Given the description of an element on the screen output the (x, y) to click on. 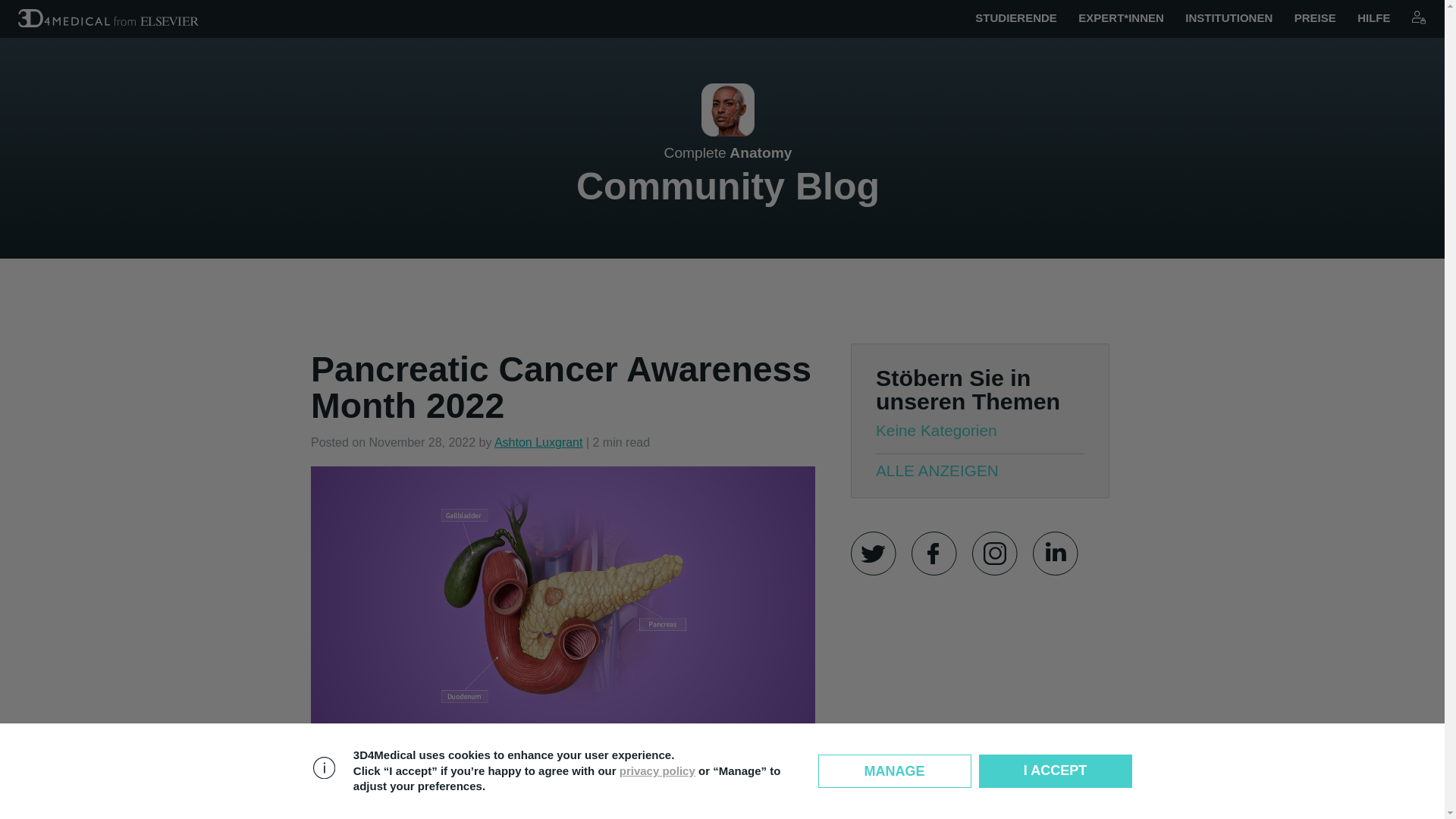
HILFE (1373, 17)
Ashton Luxgrant (1016, 17)
PREISE (539, 441)
LOGIN CREATED WITH SKETCH. (1315, 17)
LOGIN CREATED WITH SKETCH. (1418, 17)
INSTITUTIONEN (1418, 17)
